Given the description of an element on the screen output the (x, y) to click on. 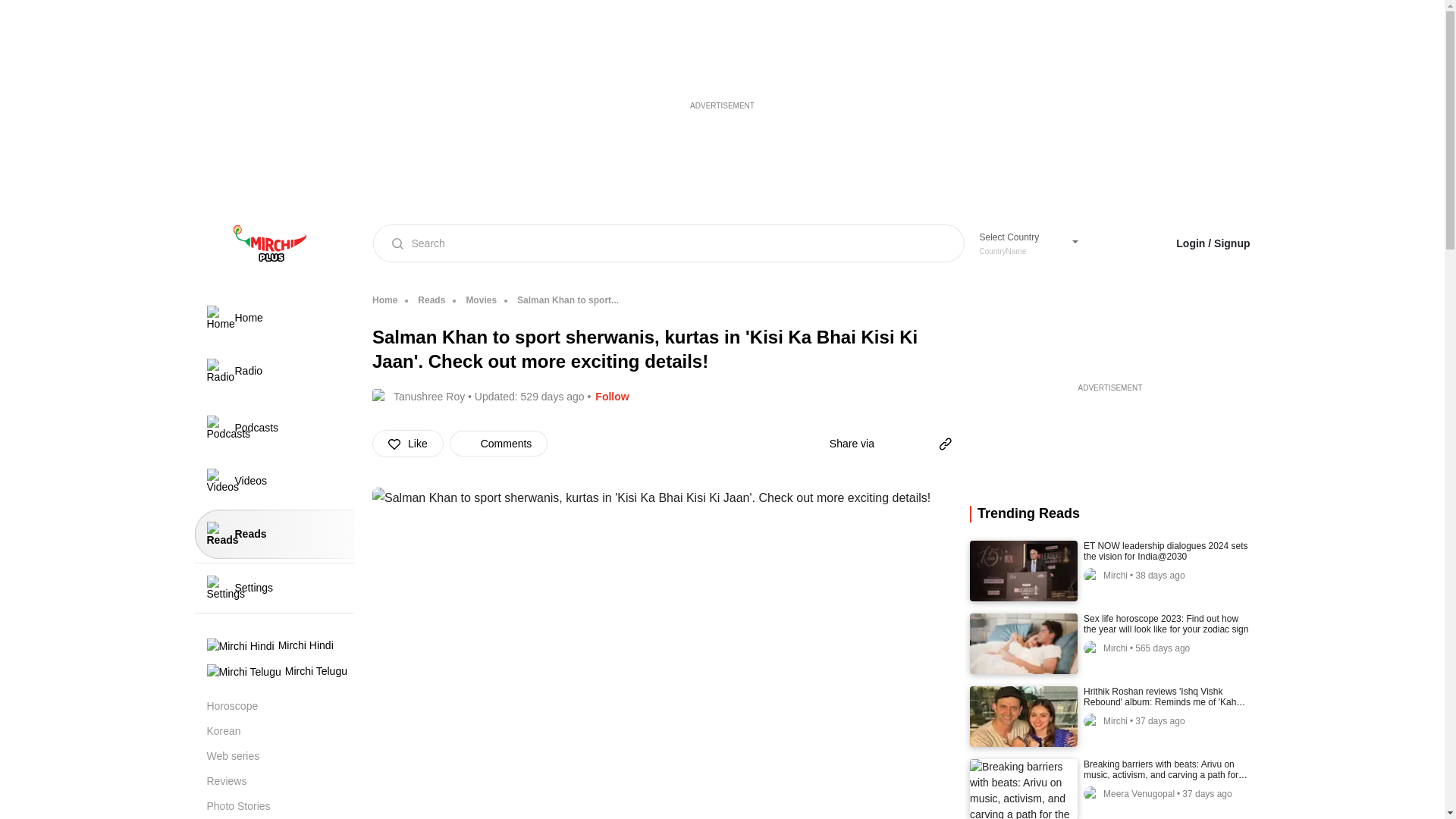
Videos (1022, 243)
Photo Stories (273, 481)
Reads (279, 806)
Korean (273, 533)
Korean (279, 731)
Mirchi Hindi (279, 731)
Settings (279, 646)
Home (273, 587)
Horoscope (383, 300)
Horoscope (279, 706)
Reviews (279, 706)
Web series (279, 781)
Reviews (279, 756)
Mirchi Telugu (279, 781)
